Given the description of an element on the screen output the (x, y) to click on. 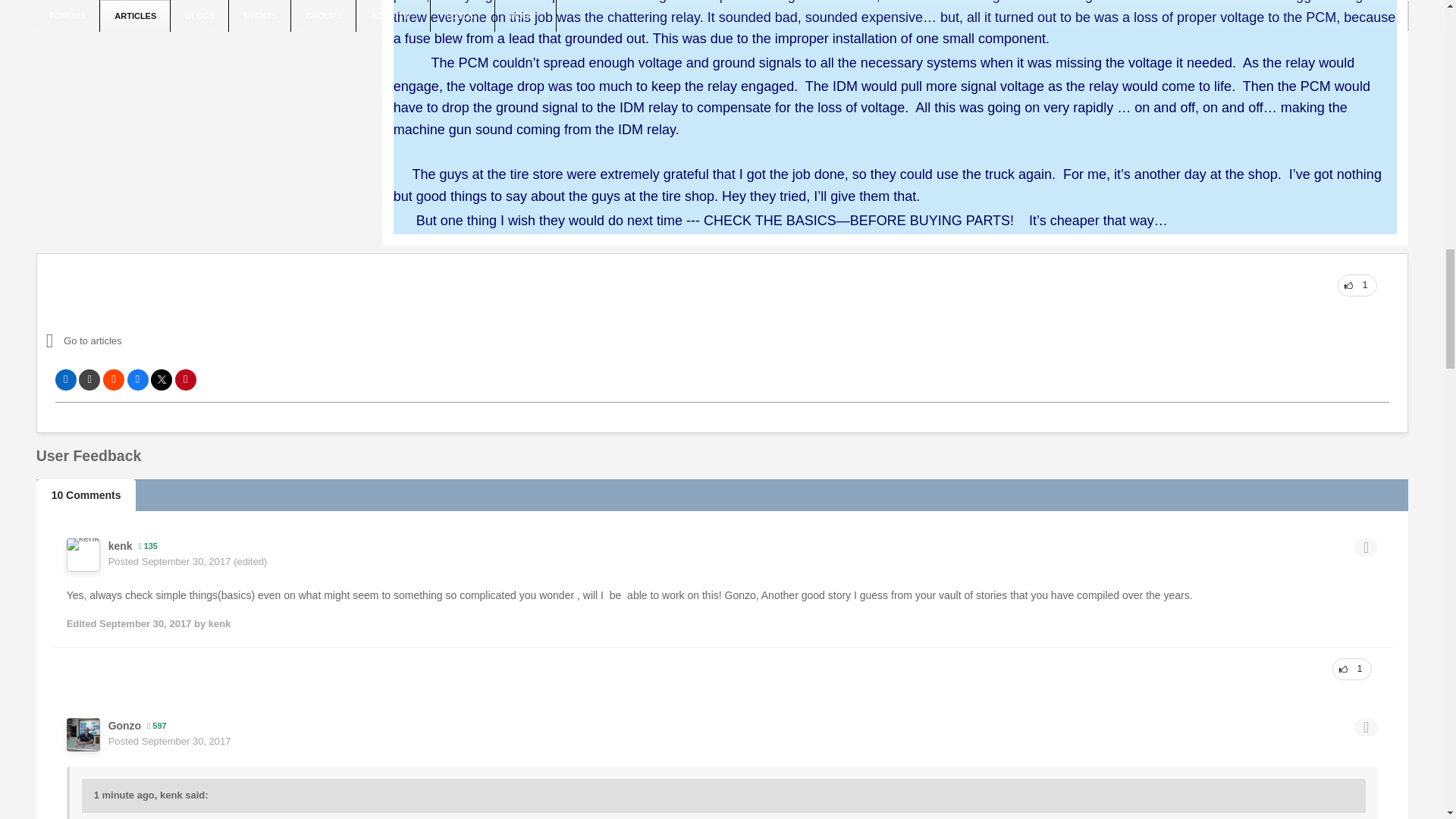
Like (1357, 285)
Share on LinkedIn (66, 379)
Go to Gonzo's Tool Box (178, 341)
